Given the description of an element on the screen output the (x, y) to click on. 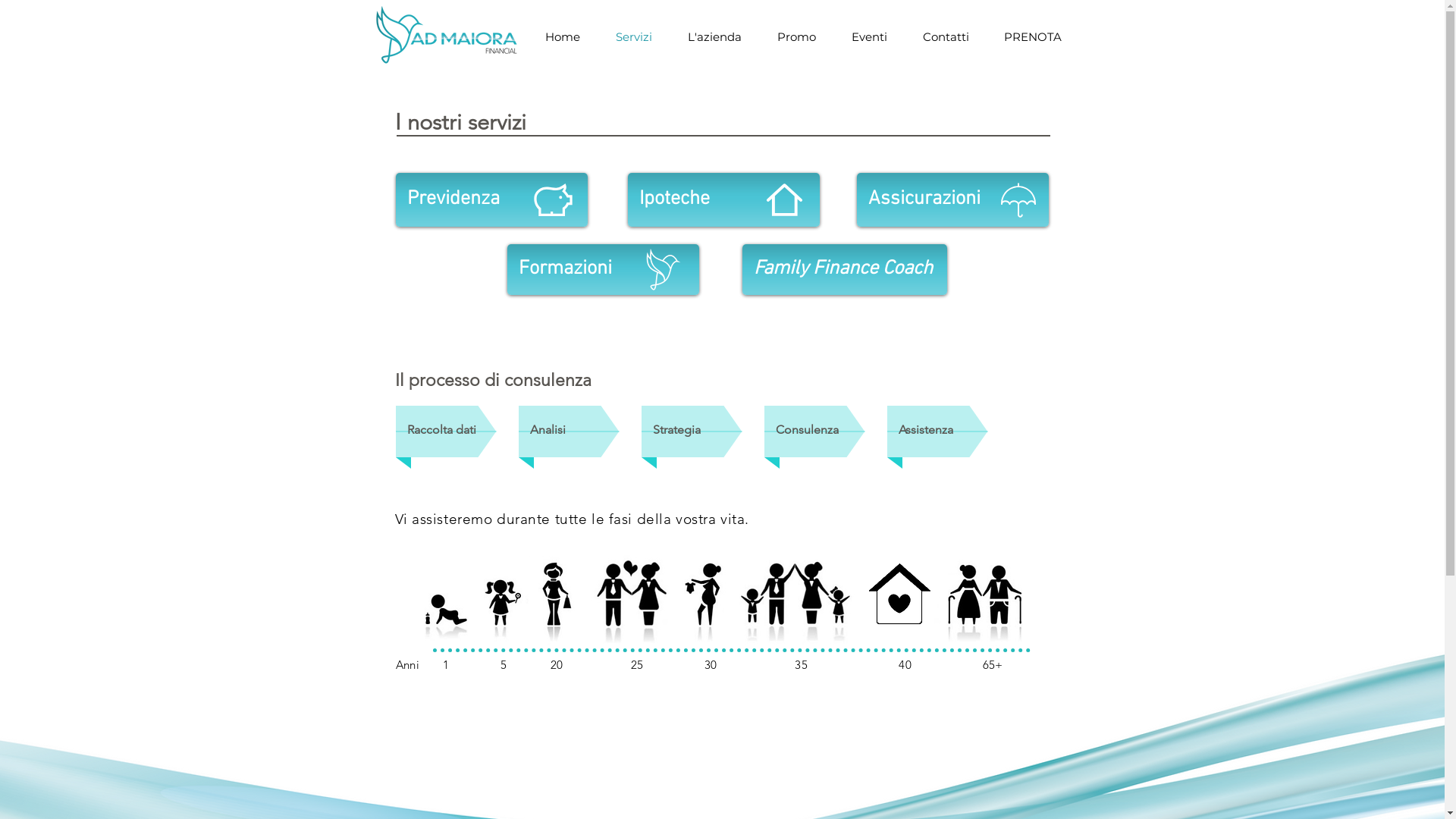
Home Element type: text (562, 36)
L'azienda Element type: text (714, 36)
Family Finance Coach Element type: text (843, 269)
Eventi Element type: text (869, 36)
Formazioni Element type: text (602, 269)
Previdenza Element type: text (491, 199)
Contatti Element type: text (945, 36)
PRENOTA Element type: text (1031, 36)
Ipoteche Element type: text (723, 199)
Assicurazioni Element type: text (952, 199)
Promo Element type: text (796, 36)
Servizi Element type: text (633, 36)
